Given the description of an element on the screen output the (x, y) to click on. 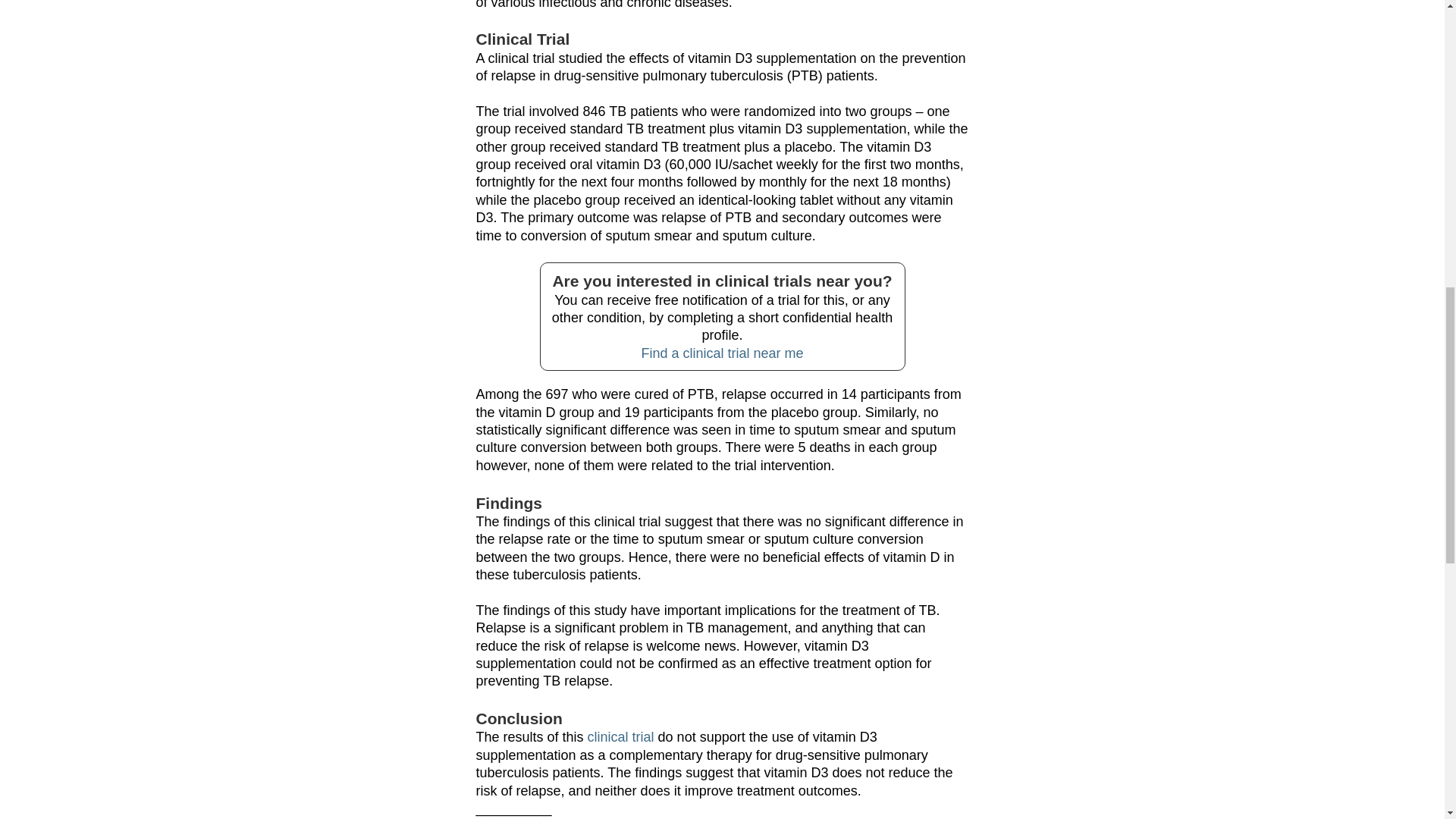
PLOS ONE (507, 818)
clinical trial (620, 736)
Find a clinical trial near me (721, 353)
